Given the description of an element on the screen output the (x, y) to click on. 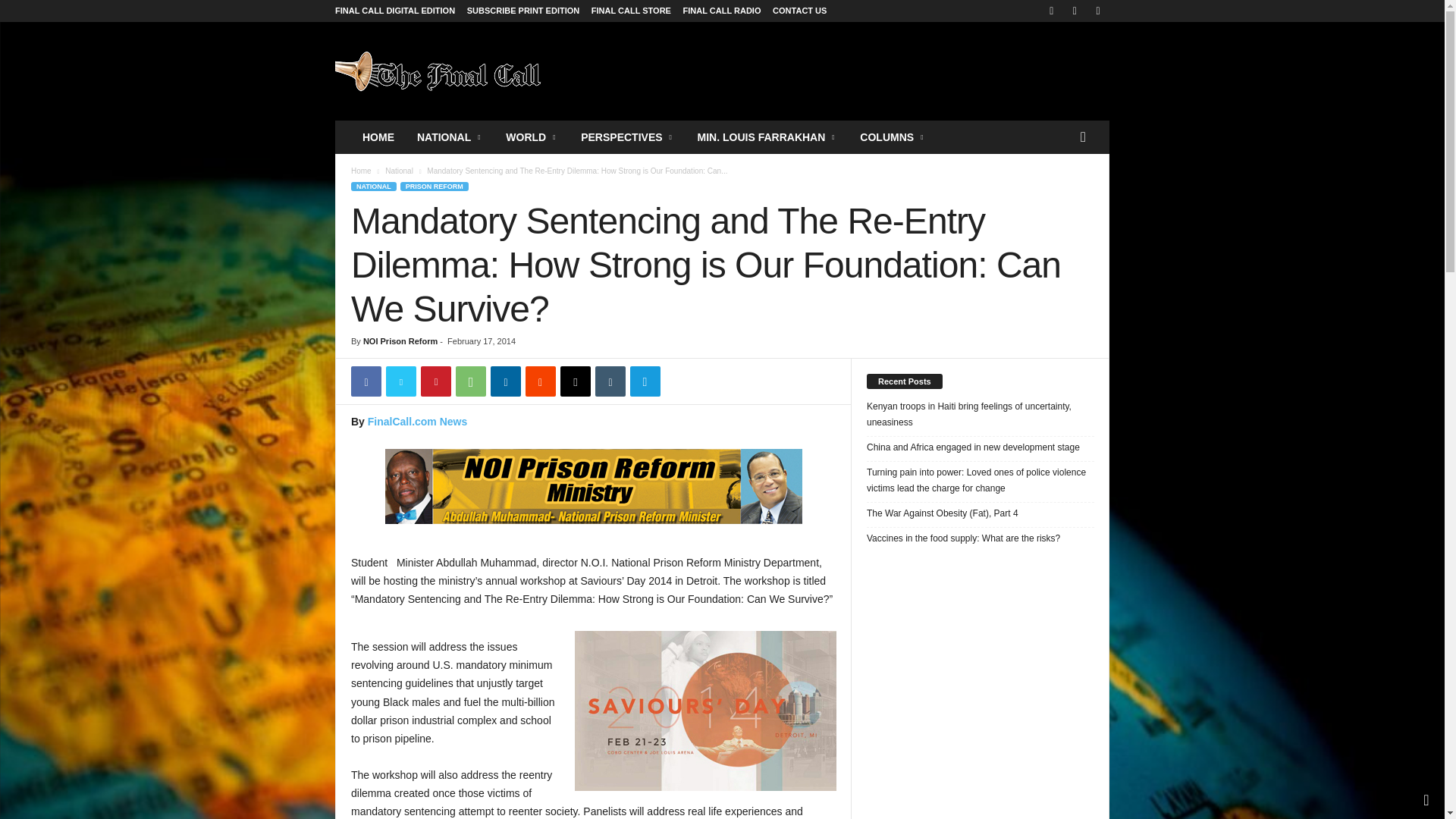
HOME (378, 136)
NATIONAL (450, 136)
FINAL CALL DIGITAL EDITION (394, 10)
CONTACT US (800, 10)
Final Call News (437, 70)
SUBSCRIBE PRINT EDITION (523, 10)
FINAL CALL STORE (631, 10)
FINAL CALL RADIO (721, 10)
